Given the description of an element on the screen output the (x, y) to click on. 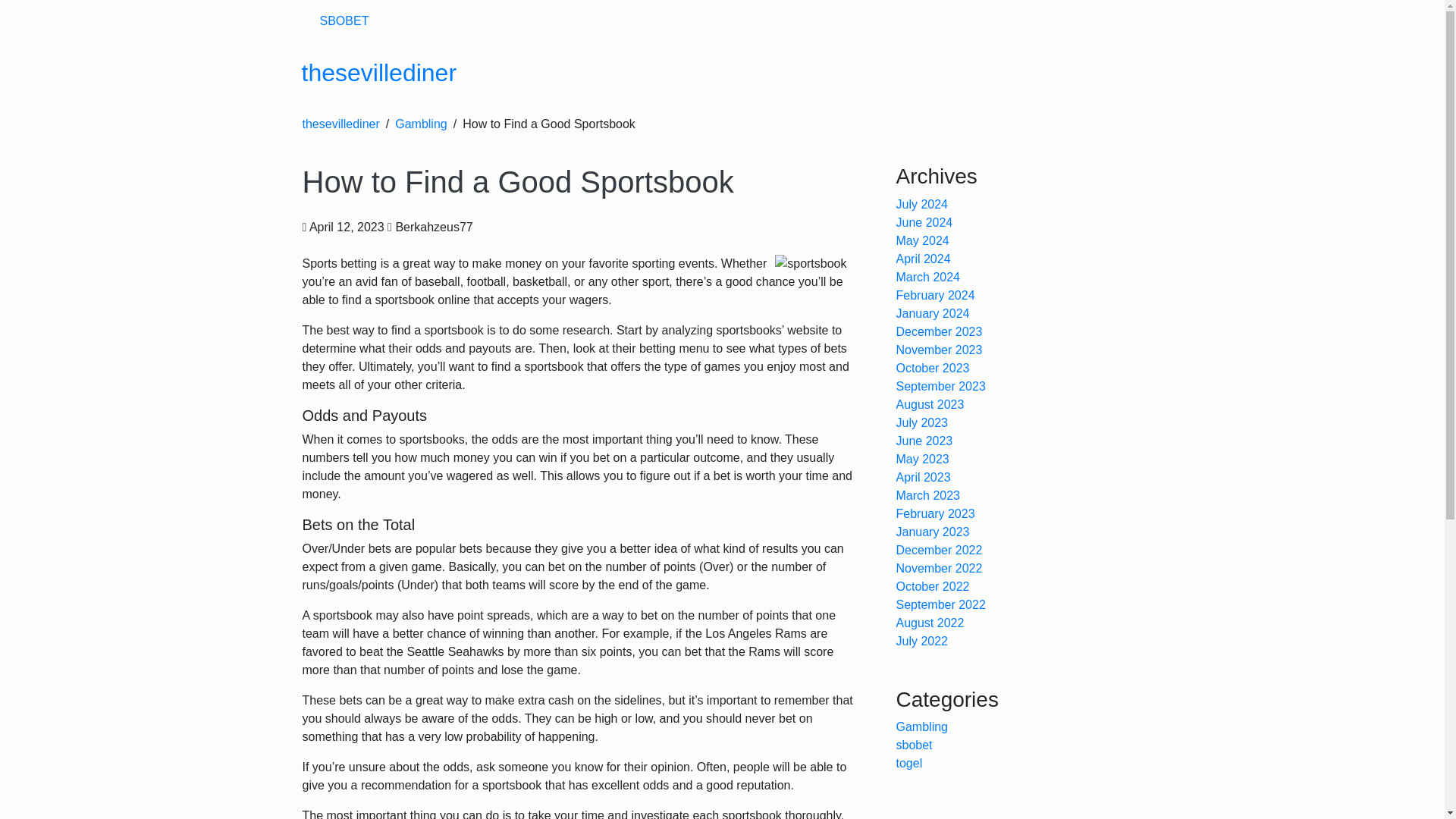
thesevillediner (339, 123)
June 2023 (924, 440)
Gambling (921, 726)
July 2022 (922, 640)
November 2023 (939, 349)
January 2023 (932, 531)
March 2024 (928, 277)
Gambling (420, 123)
July 2024 (922, 204)
February 2023 (935, 513)
July 2023 (922, 422)
April 2024 (923, 258)
May 2024 (922, 240)
August 2023 (929, 404)
September 2023 (940, 386)
